Given the description of an element on the screen output the (x, y) to click on. 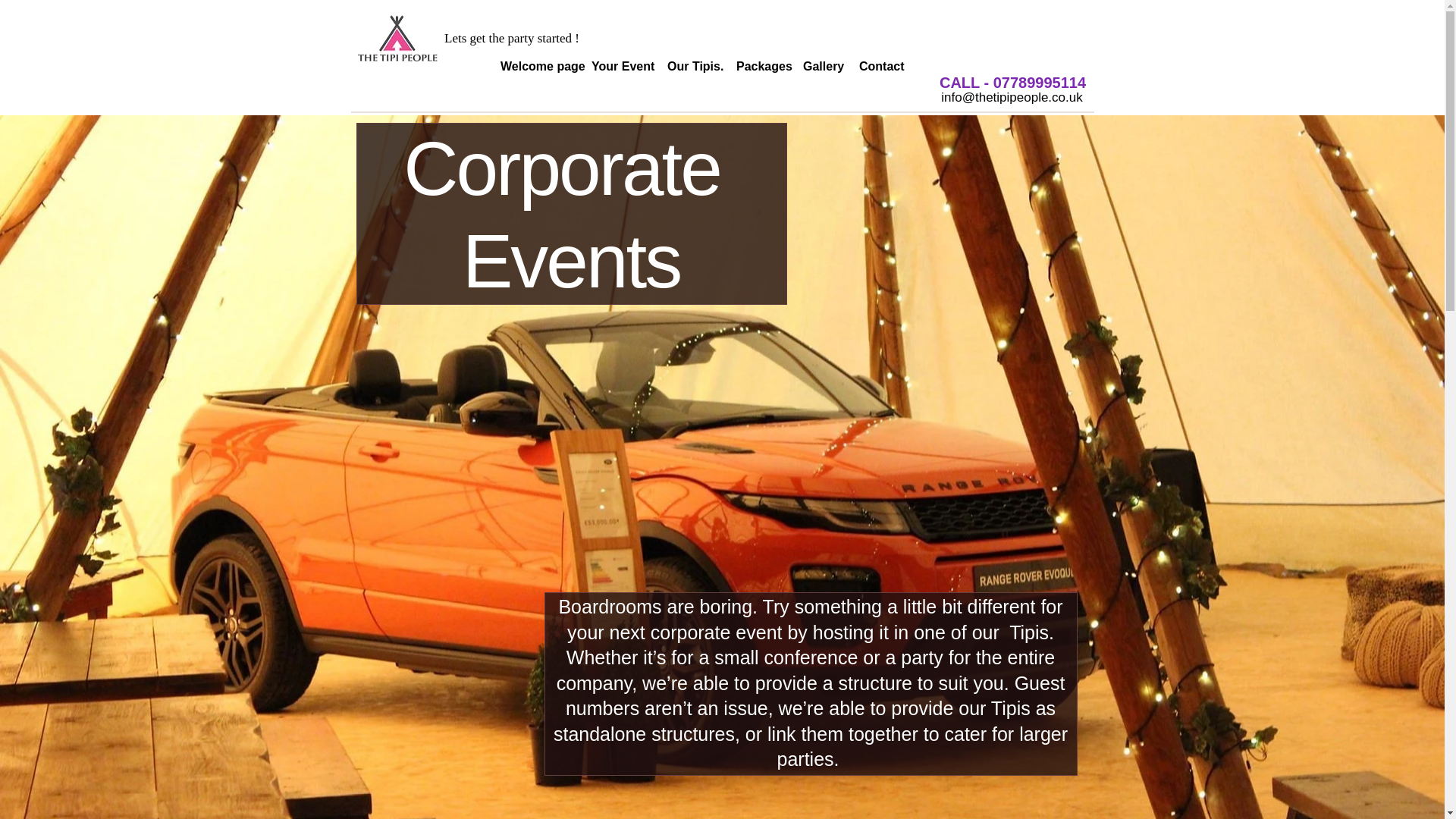
Packages (758, 66)
CALL - 07789995114 (1013, 82)
Our Tipis. (690, 66)
Contact (877, 66)
Welcome page (534, 66)
Your Event (617, 66)
Lets get the party started ! (510, 38)
Gallery (819, 66)
